Given the description of an element on the screen output the (x, y) to click on. 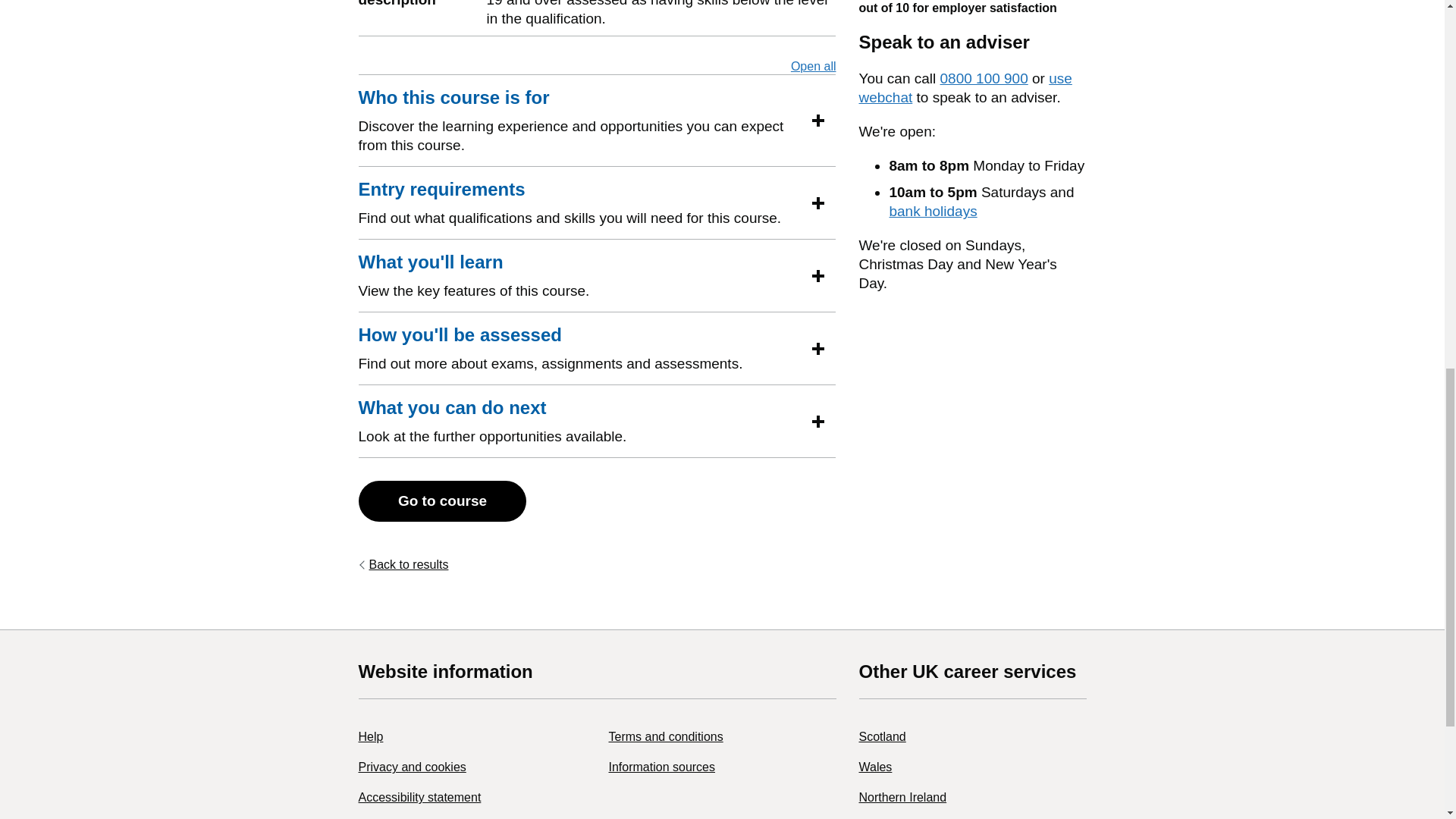
Back to results (403, 564)
Scotland (882, 736)
Privacy and cookies (411, 766)
Go to course (441, 500)
Help (370, 736)
How you'll be assessed (459, 334)
Accessibility statement (419, 797)
Information sources (661, 766)
bank holidays (932, 211)
What you can do next (452, 407)
